Given the description of an element on the screen output the (x, y) to click on. 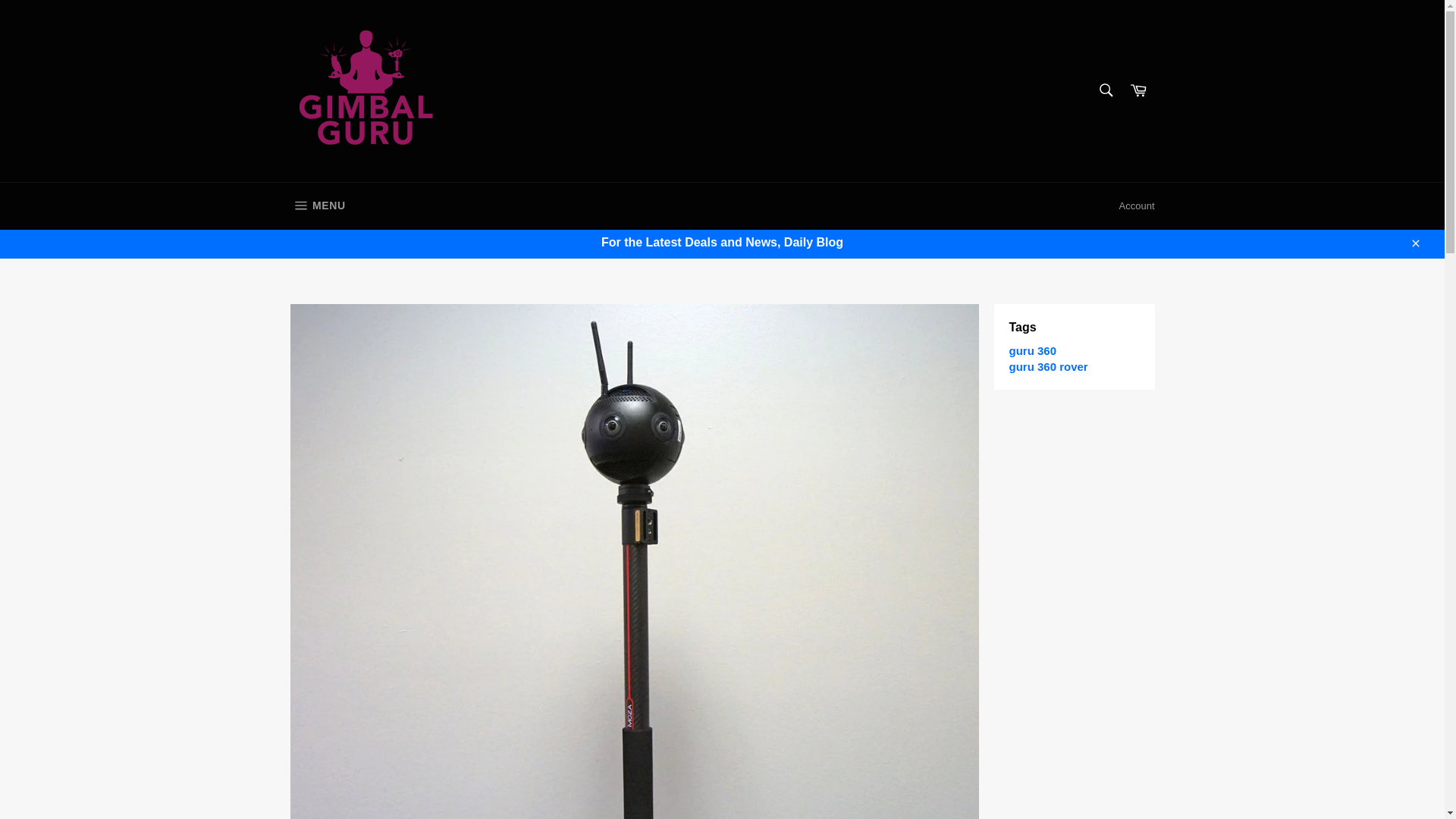
Search (317, 206)
Show articles tagged guru 360 (1104, 90)
Show articles tagged guru 360 rover (1033, 350)
Cart (1048, 366)
